Given the description of an element on the screen output the (x, y) to click on. 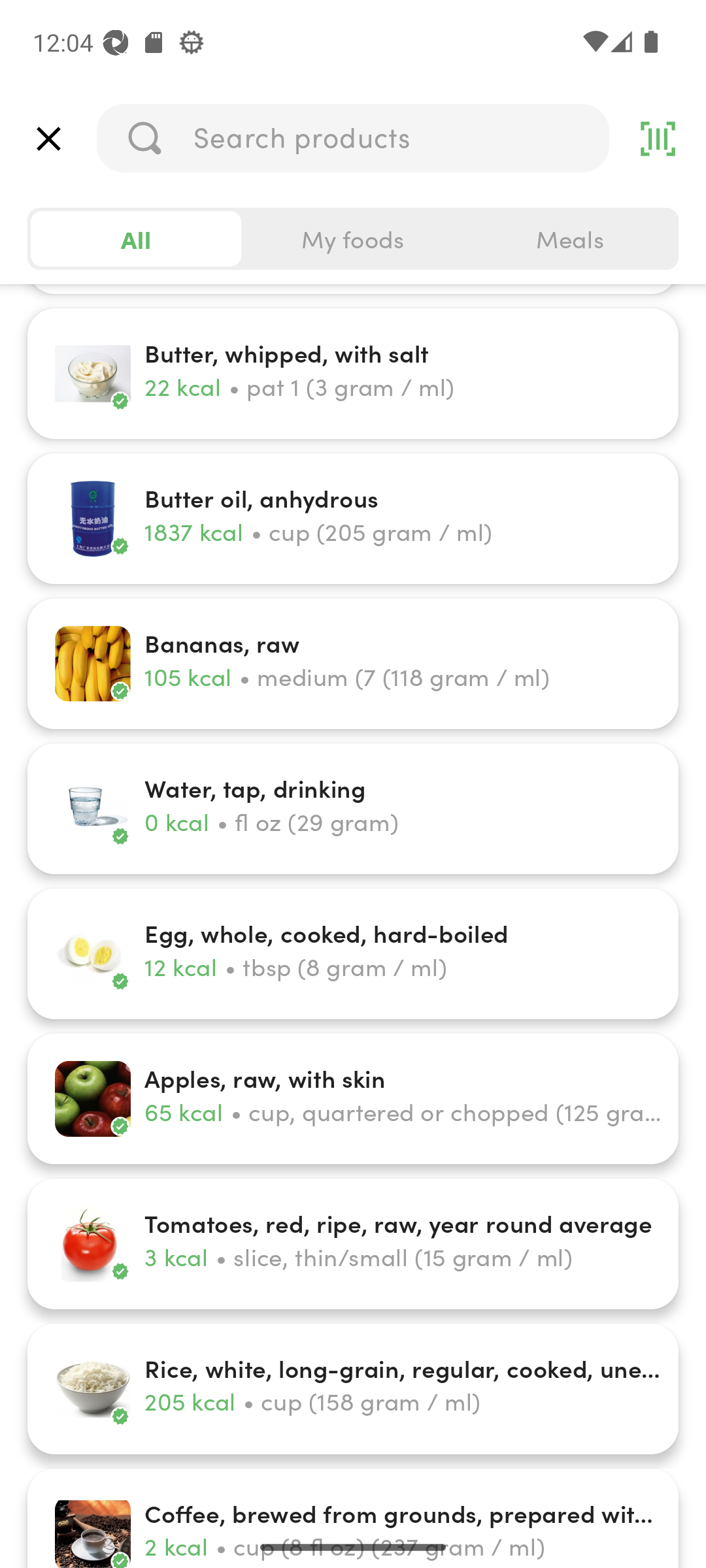
top_left_action (48, 138)
top_right_action (658, 138)
My foods (352, 238)
Meals (569, 238)
Bananas, raw 105 kcal  • medium (7 (118 gram / ml) (352, 663)
Water, tap, drinking 0 kcal  • fl oz (29 gram) (352, 808)
